Given the description of an element on the screen output the (x, y) to click on. 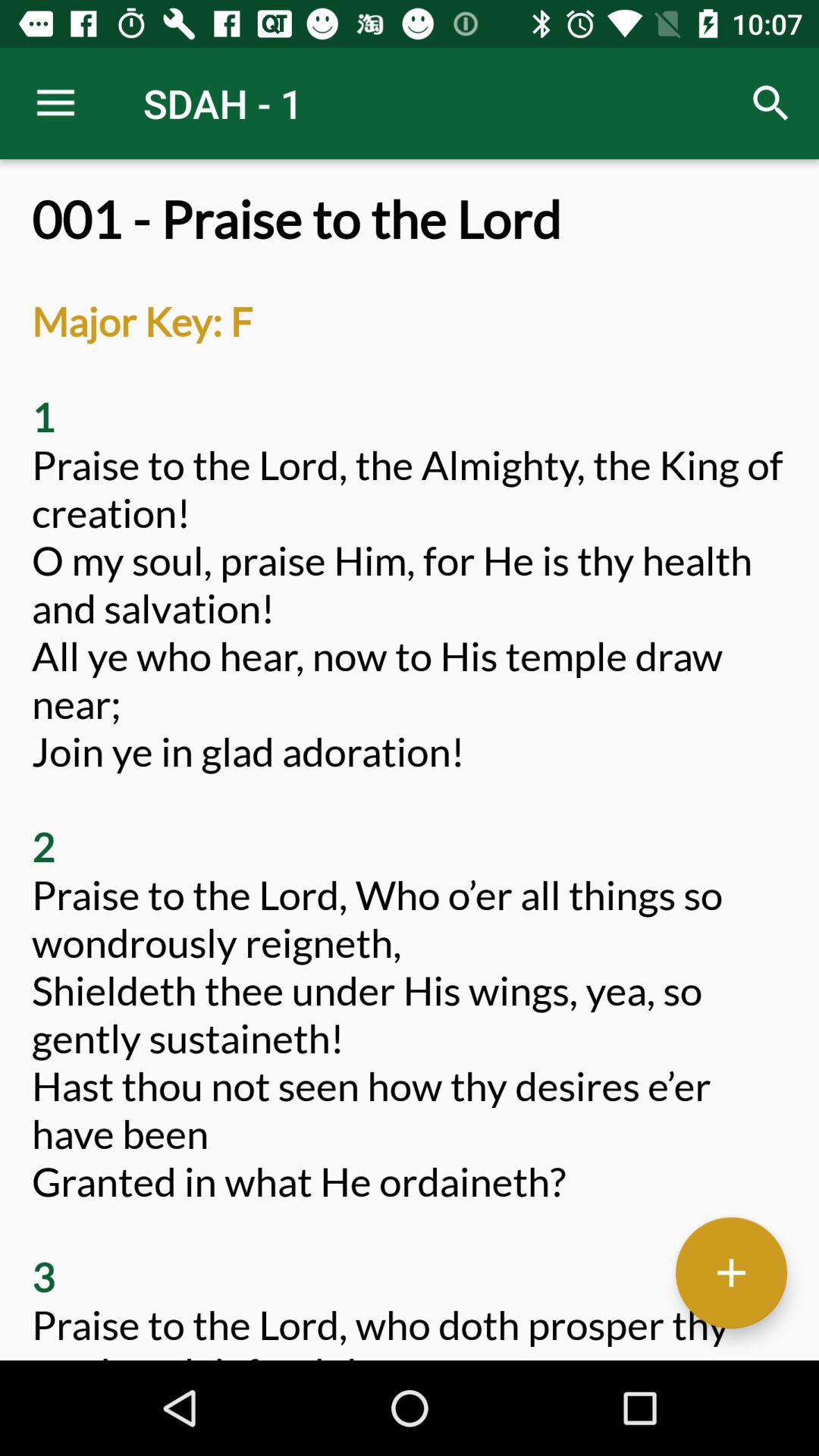
launch item above 001 praise to item (55, 103)
